Given the description of an element on the screen output the (x, y) to click on. 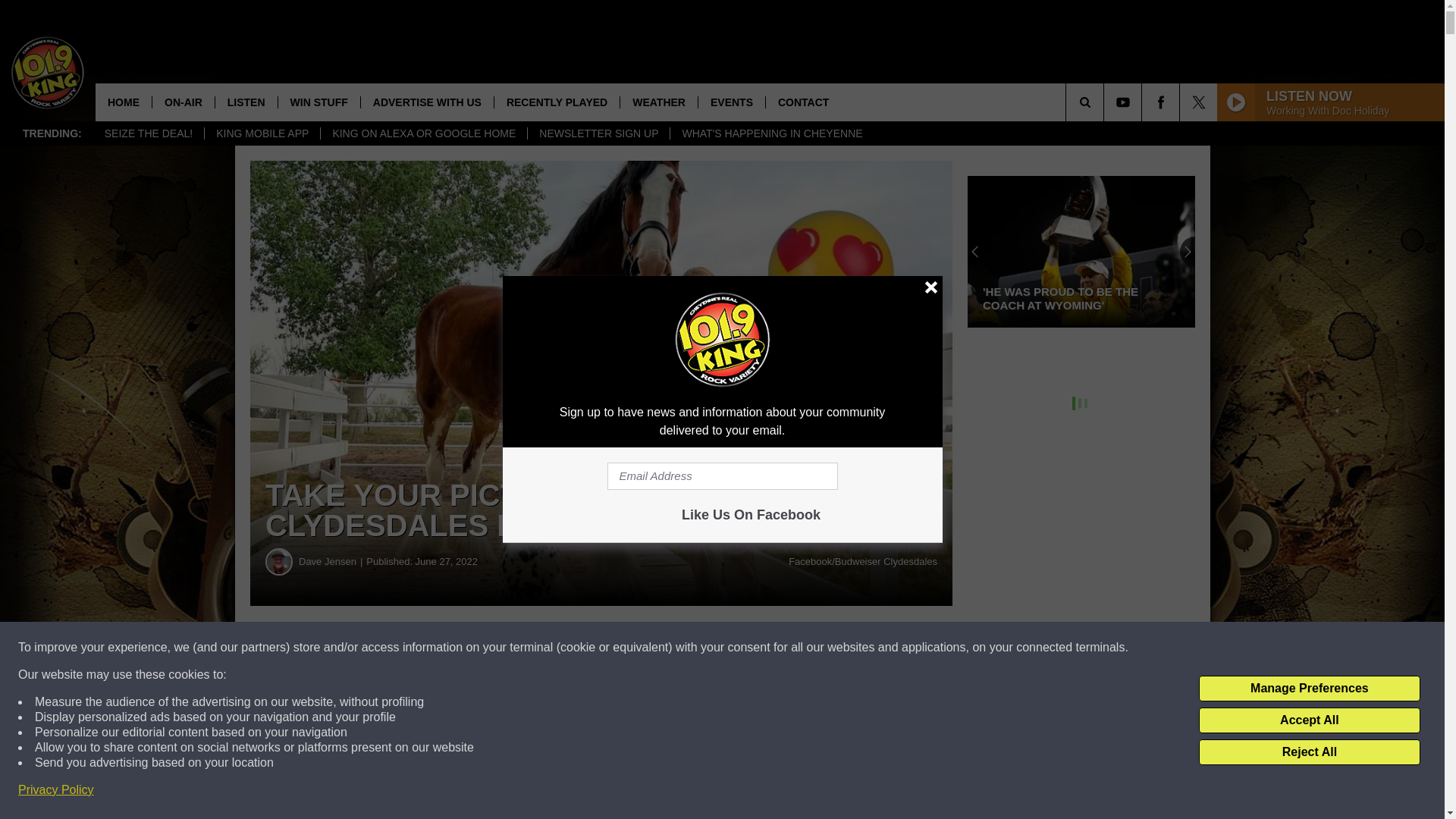
SEARCH (1106, 102)
Privacy Policy (55, 789)
HOME (123, 102)
KING MOBILE APP (261, 133)
Share on Twitter (741, 647)
SEARCH (1106, 102)
EVENTS (731, 102)
ON-AIR (182, 102)
WIN STUFF (318, 102)
SEIZE THE DEAL! (148, 133)
NEWSLETTER SIGN UP (598, 133)
Manage Preferences (1309, 688)
Share on Facebook (460, 647)
KING ON ALEXA OR GOOGLE HOME (423, 133)
Accept All (1309, 720)
